Given the description of an element on the screen output the (x, y) to click on. 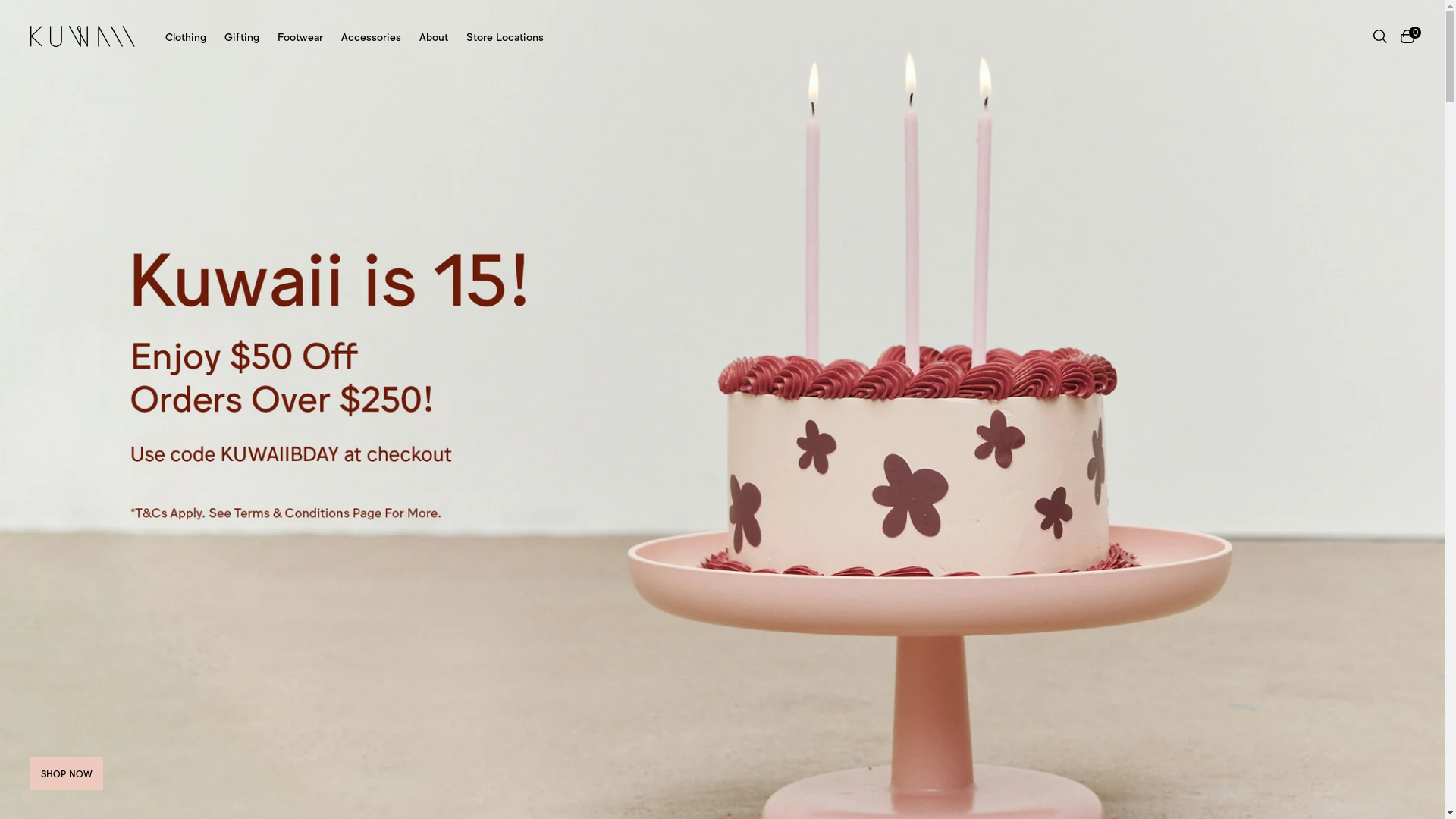
Kuwaii Element type: text (82, 36)
Clothing Element type: text (185, 36)
About Element type: text (433, 36)
Footwear Element type: text (300, 36)
Accessories Element type: text (371, 36)
0 Element type: text (1407, 36)
Store Locations Element type: text (504, 36)
Gifting Element type: text (241, 36)
